Given the description of an element on the screen output the (x, y) to click on. 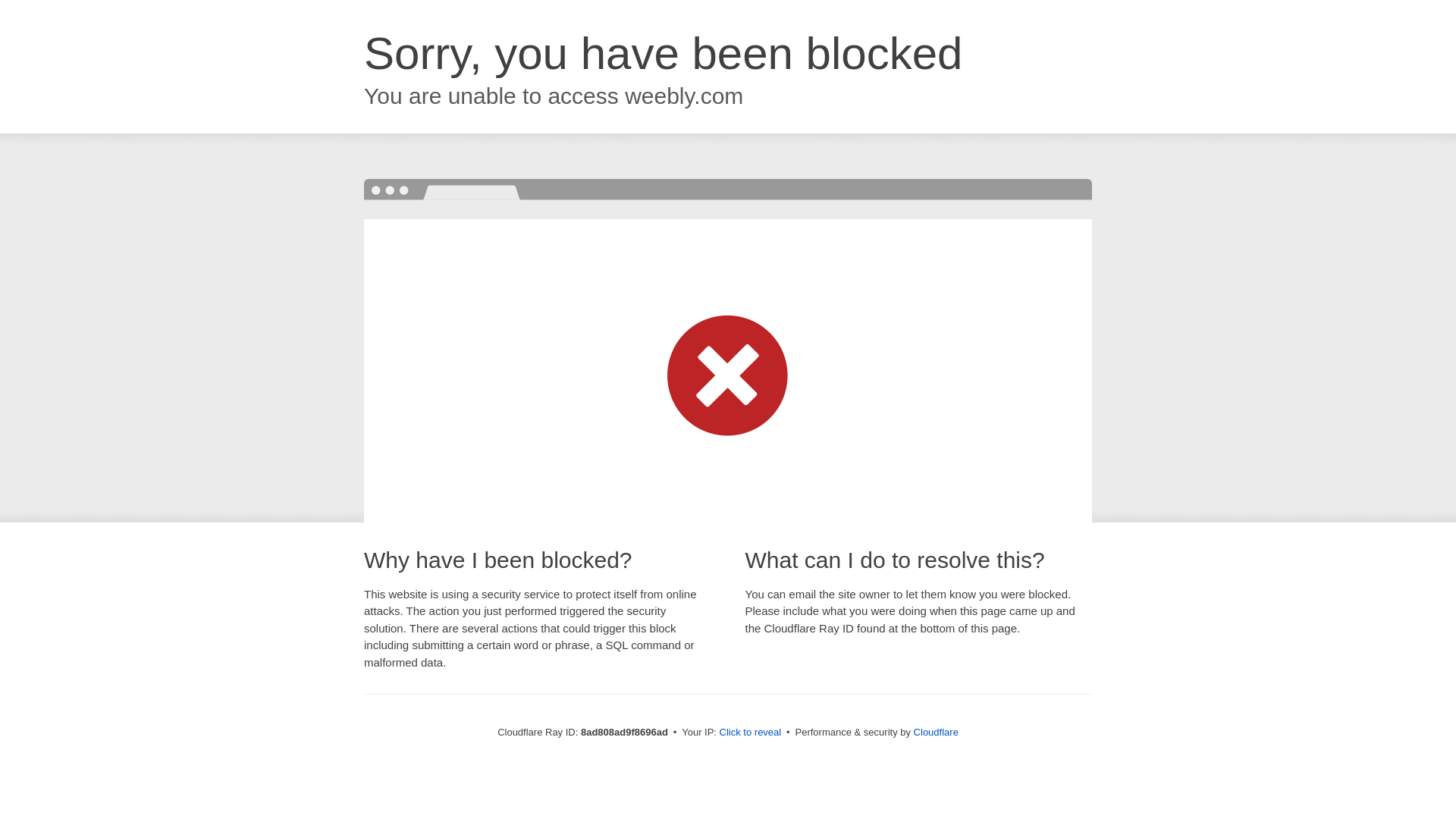
Cloudflare (936, 731)
Click to reveal (750, 732)
